Given the description of an element on the screen output the (x, y) to click on. 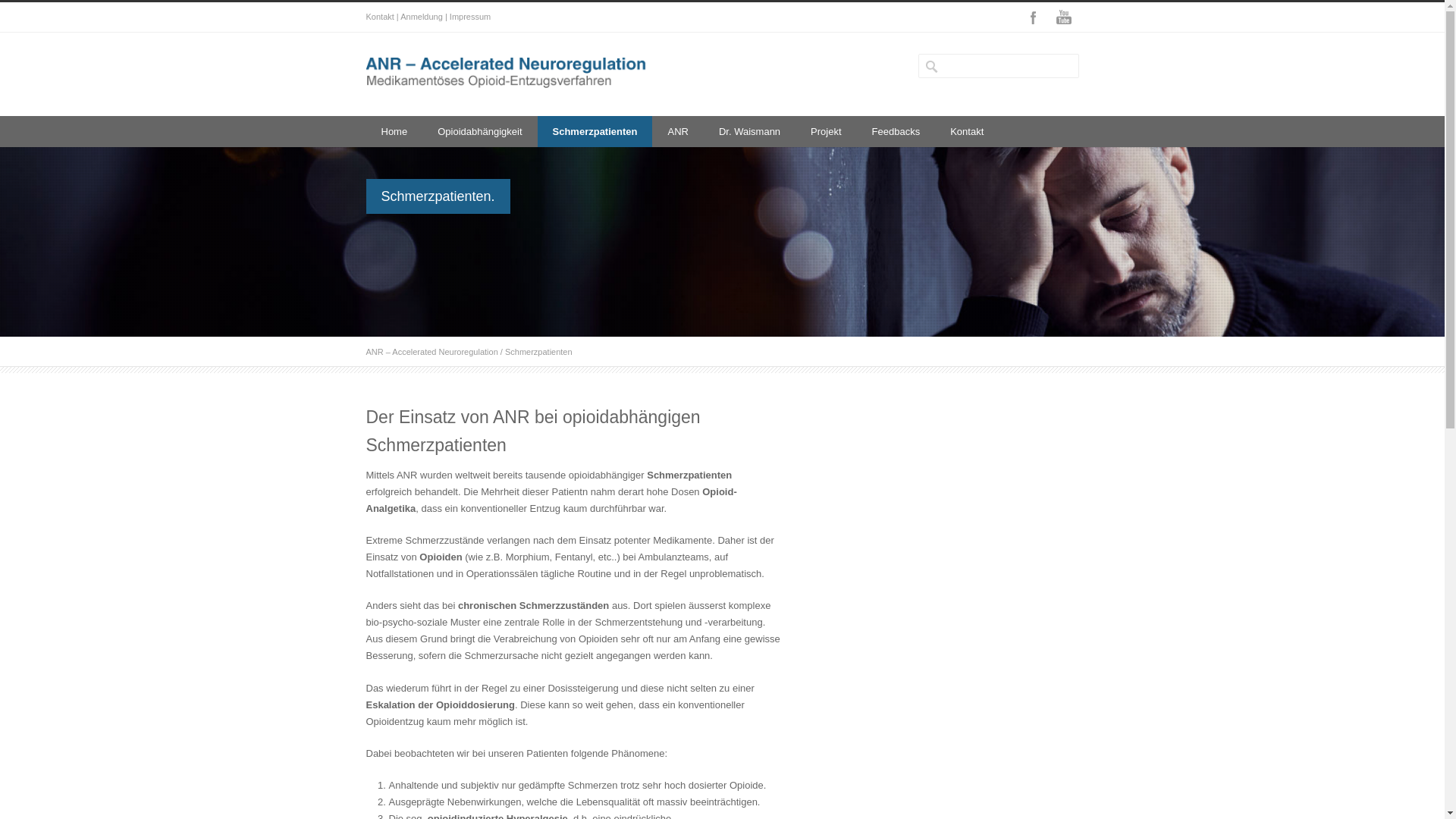
Anmeldung Element type: text (421, 16)
Schmerzpatienten Element type: text (594, 131)
Impressum Element type: text (469, 16)
Projekt Element type: text (825, 131)
ANR Element type: text (677, 131)
Kontakt Element type: text (379, 16)
Dr. Waismann Element type: text (749, 131)
Facebook Element type: text (1032, 17)
YouTube Element type: text (1063, 17)
Kontakt Element type: text (966, 131)
Search Element type: text (68, 11)
Feedbacks Element type: text (895, 131)
Home Element type: text (393, 131)
